Given the description of an element on the screen output the (x, y) to click on. 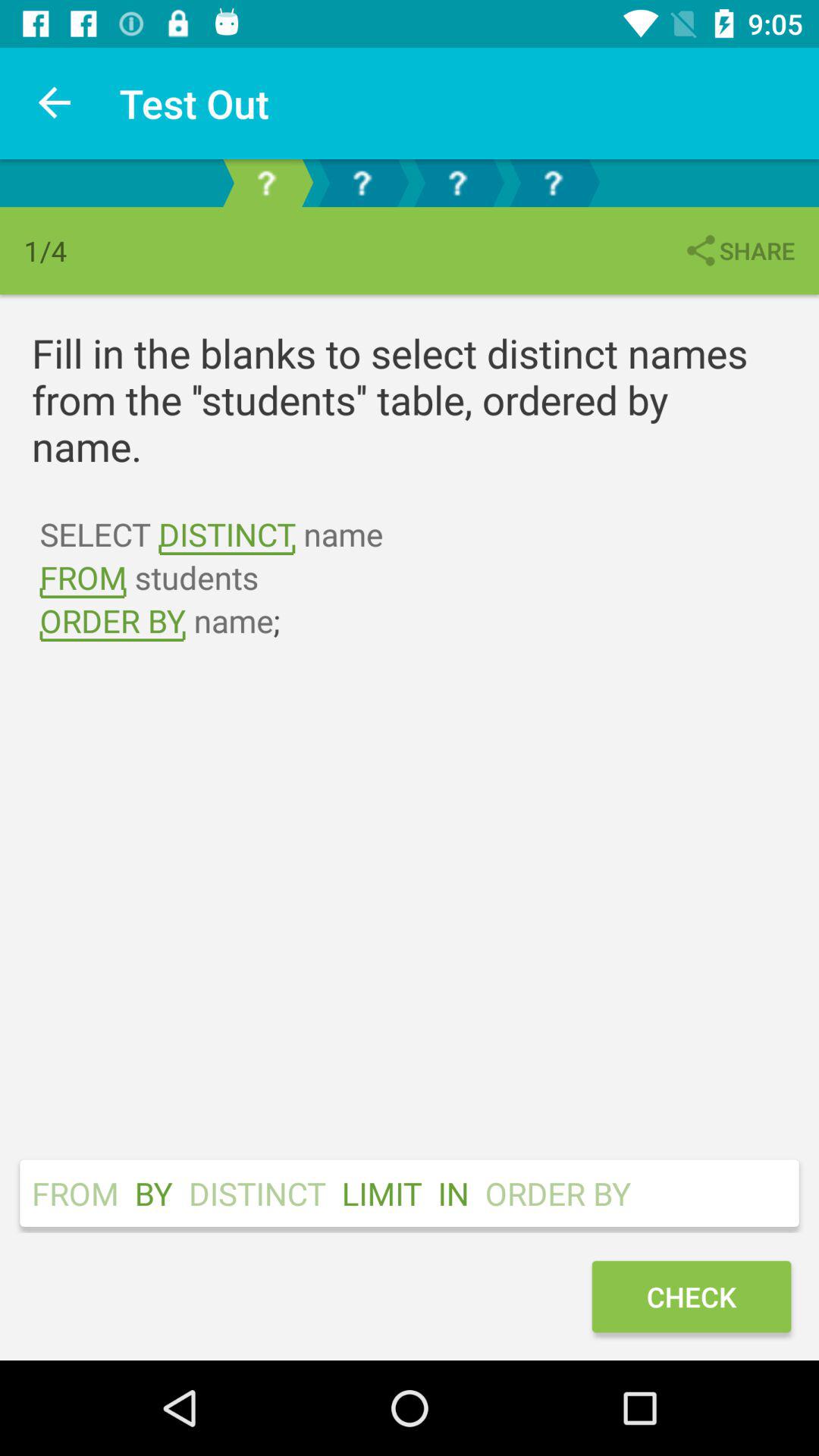
go to first page out of 4 of lesson (265, 183)
